Given the description of an element on the screen output the (x, y) to click on. 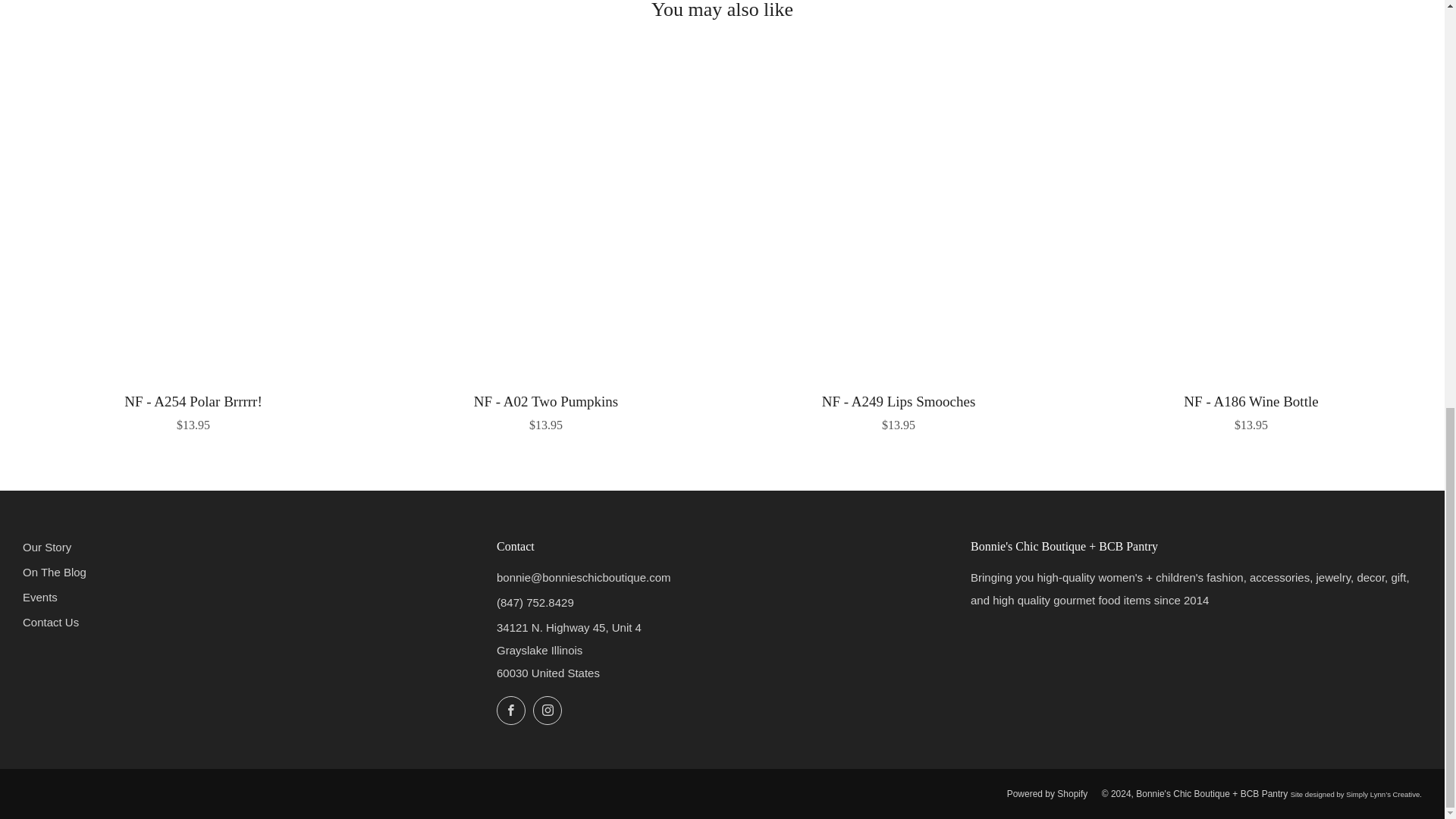
NF - A249 Lips Smooches (898, 410)
NF - A186 Wine Bottle (1251, 410)
NF - A02 Two Pumpkins (545, 410)
NF - A254 Polar Brrrrr! (193, 410)
